Given the description of an element on the screen output the (x, y) to click on. 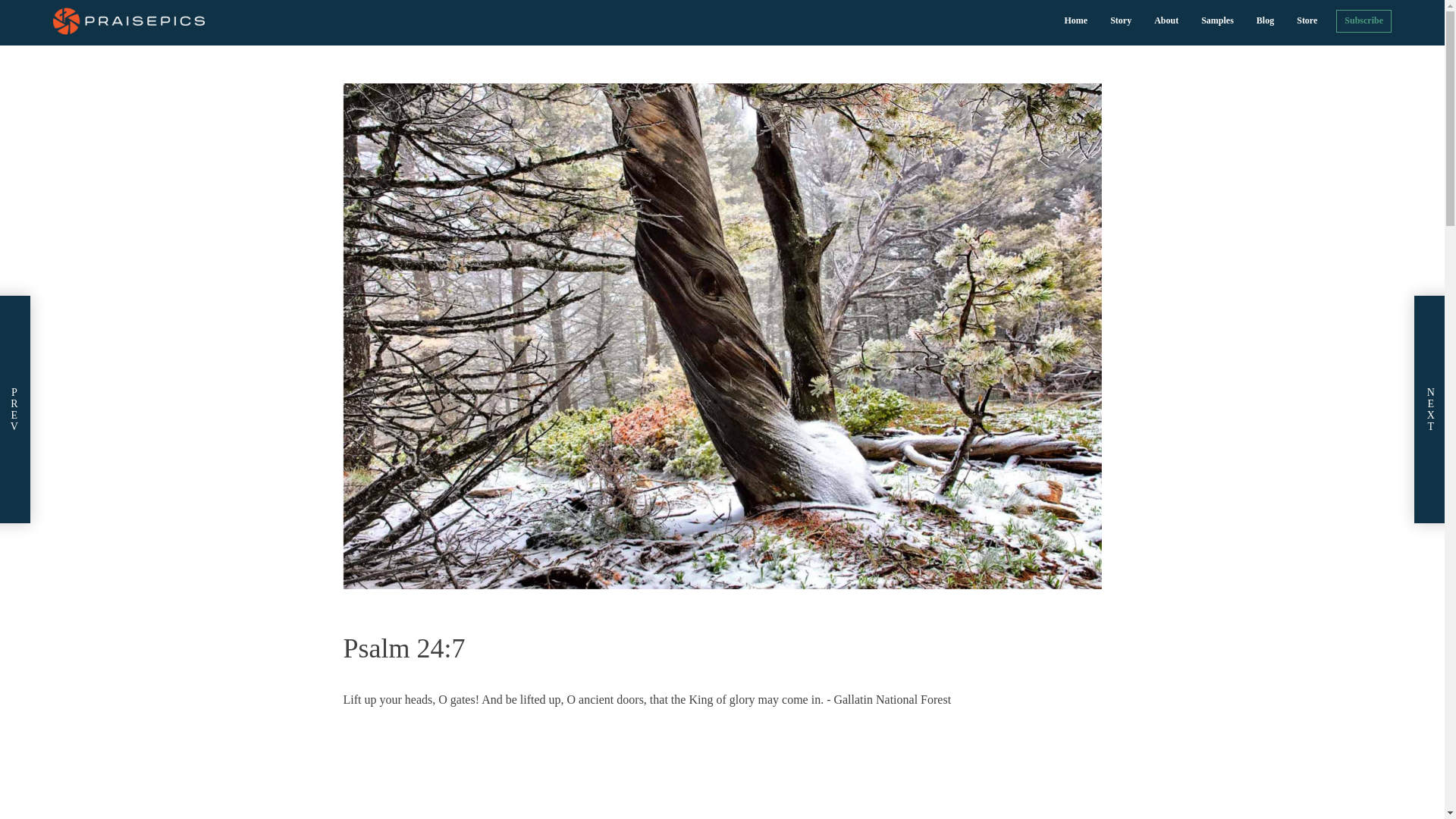
Store (1306, 20)
Subscribe (1363, 20)
Story (1120, 20)
Blog (1264, 20)
Samples (1216, 20)
Home (1075, 20)
About (1165, 20)
